Given the description of an element on the screen output the (x, y) to click on. 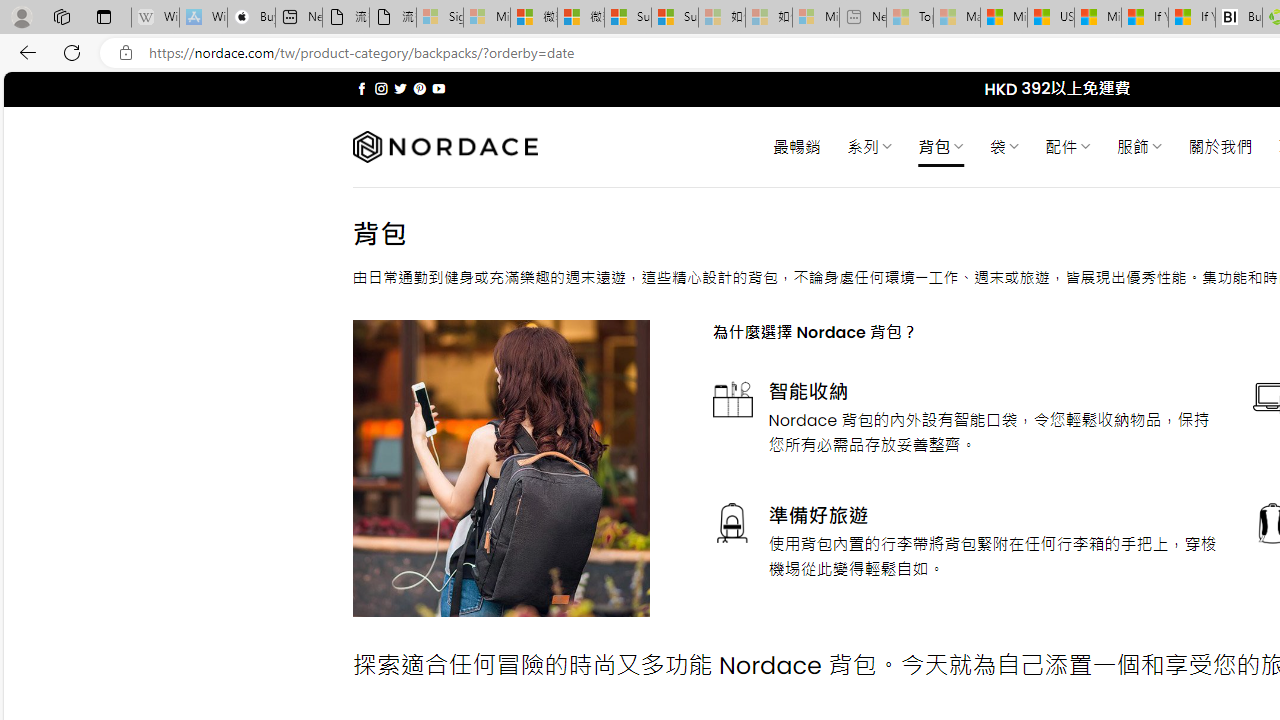
Follow on Twitter (400, 88)
Marine life - MSN - Sleeping (957, 17)
Follow on YouTube (438, 88)
